Given the description of an element on the screen output the (x, y) to click on. 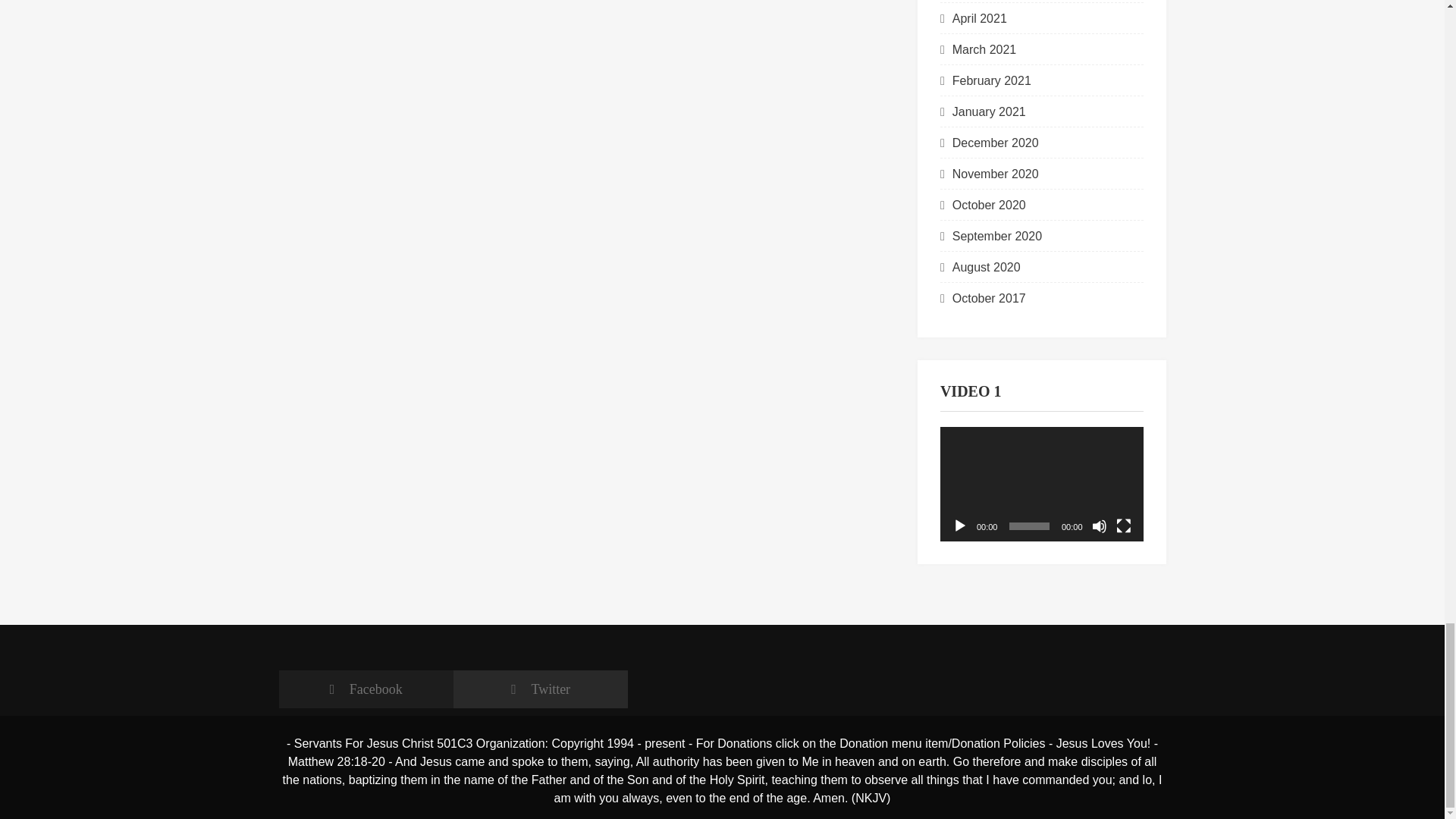
Play (960, 525)
Twitter (539, 689)
Facebook (365, 689)
Mute (1099, 525)
Fullscreen (1123, 525)
